Given the description of an element on the screen output the (x, y) to click on. 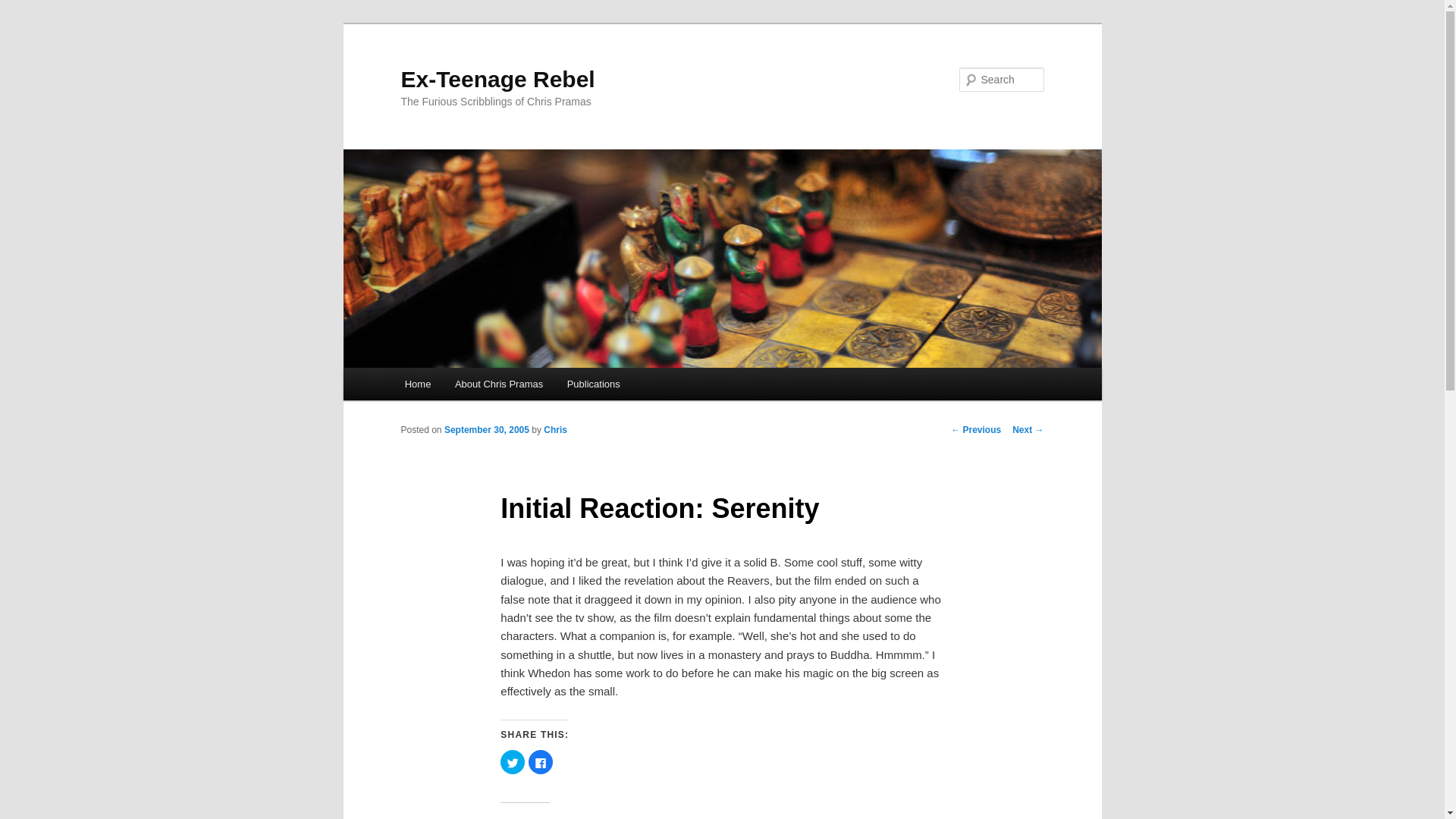
View all posts by Chris (555, 429)
September 30, 2005 (486, 429)
Search (24, 8)
Publications (592, 383)
Click to share on Facebook (540, 761)
Chris (555, 429)
11:57 pm (486, 429)
Home (417, 383)
About Chris Pramas (498, 383)
Ex-Teenage Rebel (497, 78)
Click to share on Twitter (512, 761)
